Given the description of an element on the screen output the (x, y) to click on. 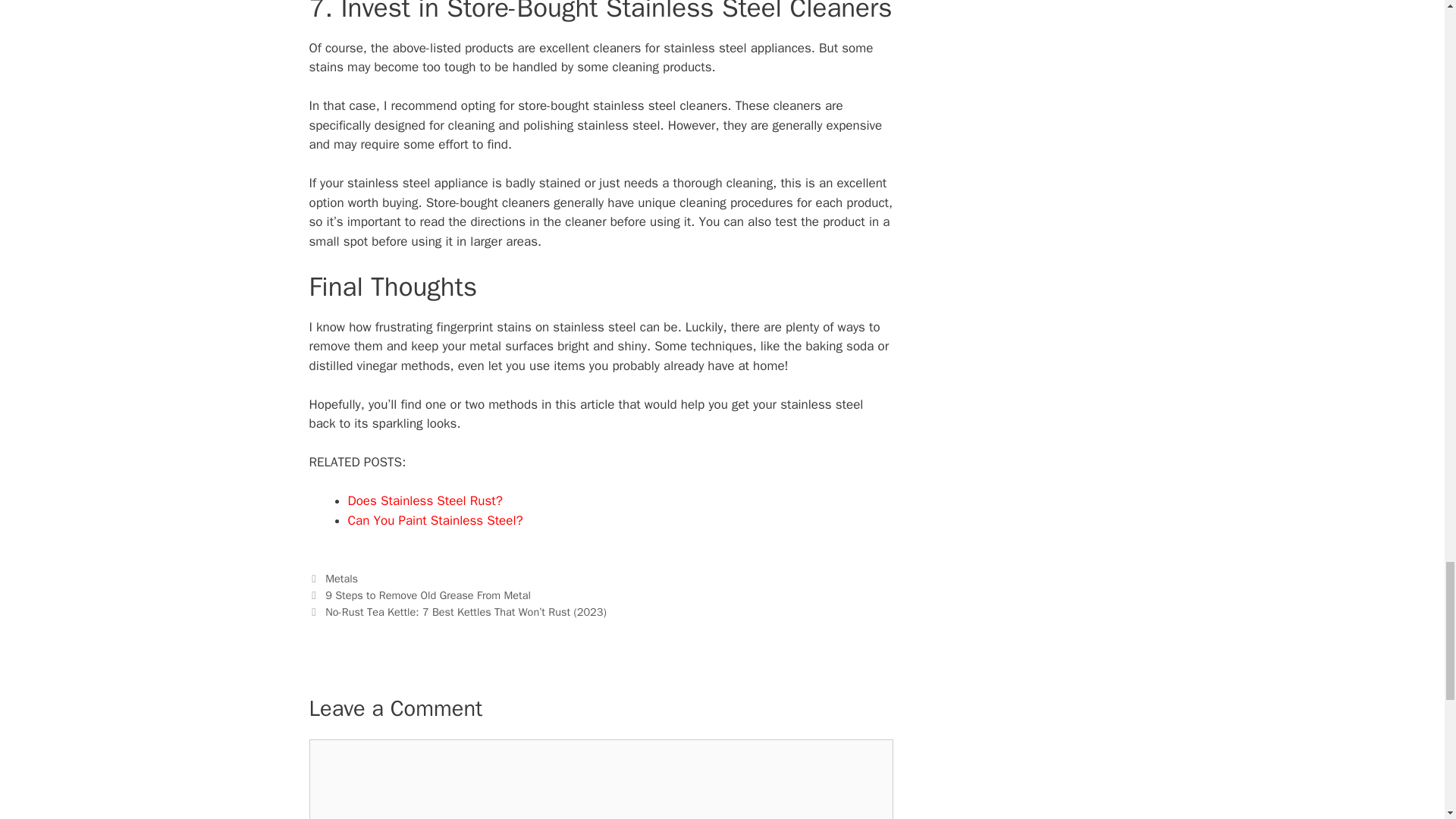
Can You Paint Stainless Steel? (434, 520)
Metals (341, 578)
Does Stainless Steel Rust? (424, 500)
